Given the description of an element on the screen output the (x, y) to click on. 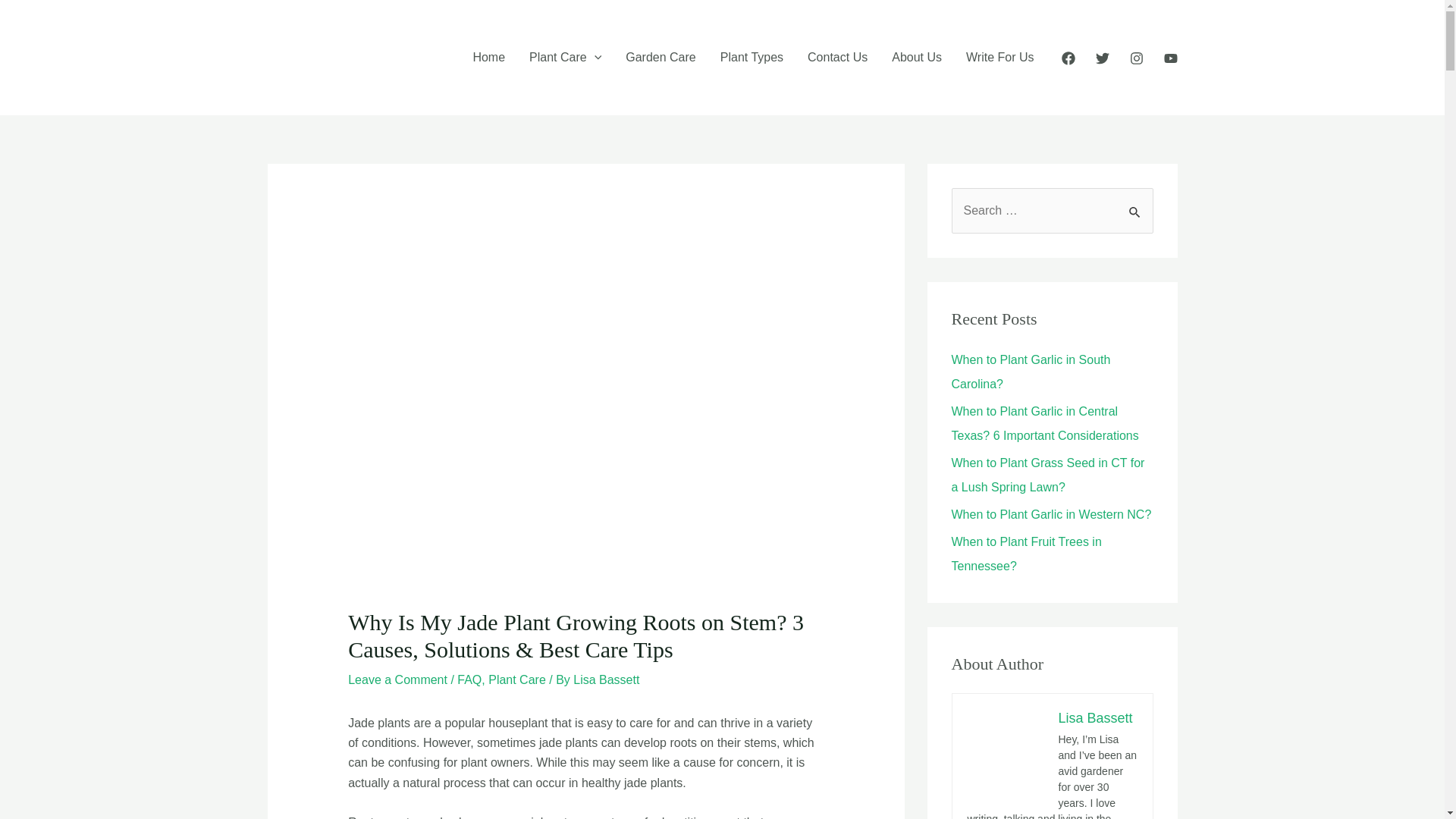
Contact Us (836, 57)
Search (1136, 204)
Plant Care (564, 57)
Plant Care (516, 679)
FAQ (469, 679)
Garden Care (659, 57)
Home (488, 57)
Write For Us (999, 57)
About Us (916, 57)
Plant Types (750, 57)
Lisa Bassett (606, 679)
View all posts by Lisa Bassett (606, 679)
Search (1136, 204)
Leave a Comment (396, 679)
